Given the description of an element on the screen output the (x, y) to click on. 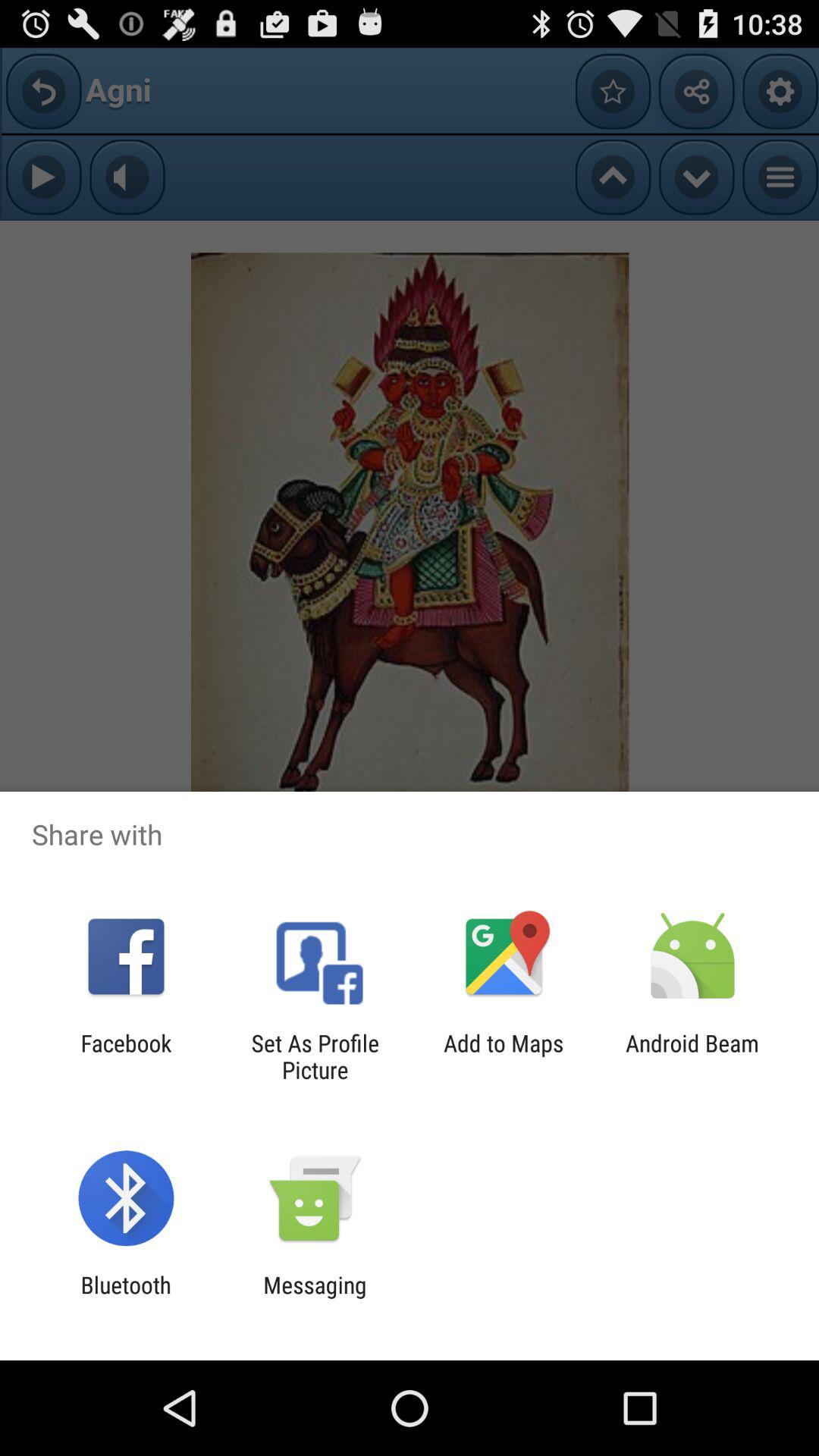
choose the app to the left of messaging icon (125, 1298)
